Given the description of an element on the screen output the (x, y) to click on. 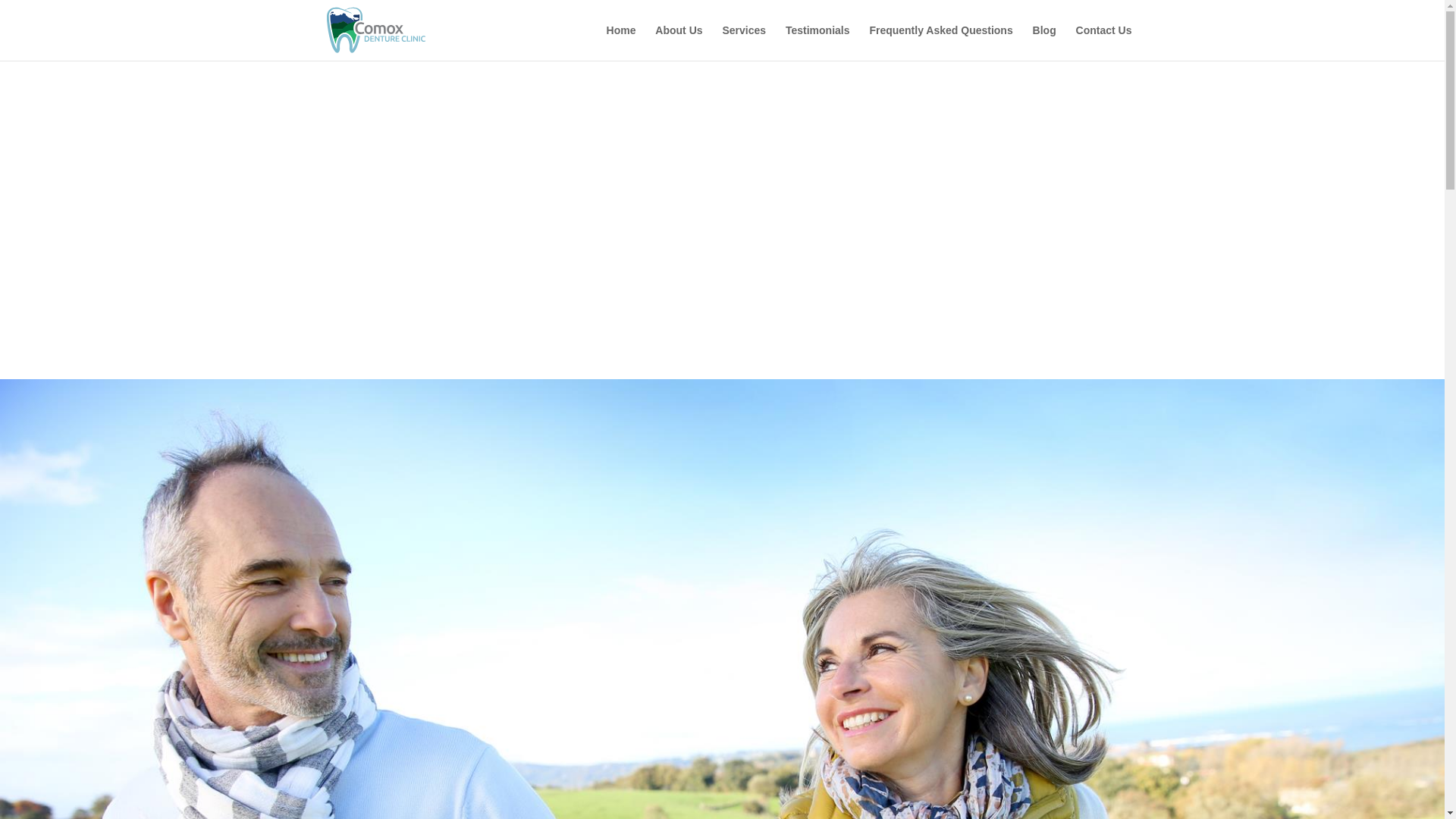
Contact us for a FREE Consultation! (721, 238)
Testimonials (818, 42)
Help! I broke my denture! (722, 298)
Services (743, 42)
Frequently Asked Questions (940, 42)
Contact Us (1103, 42)
About Us (678, 42)
